Given the description of an element on the screen output the (x, y) to click on. 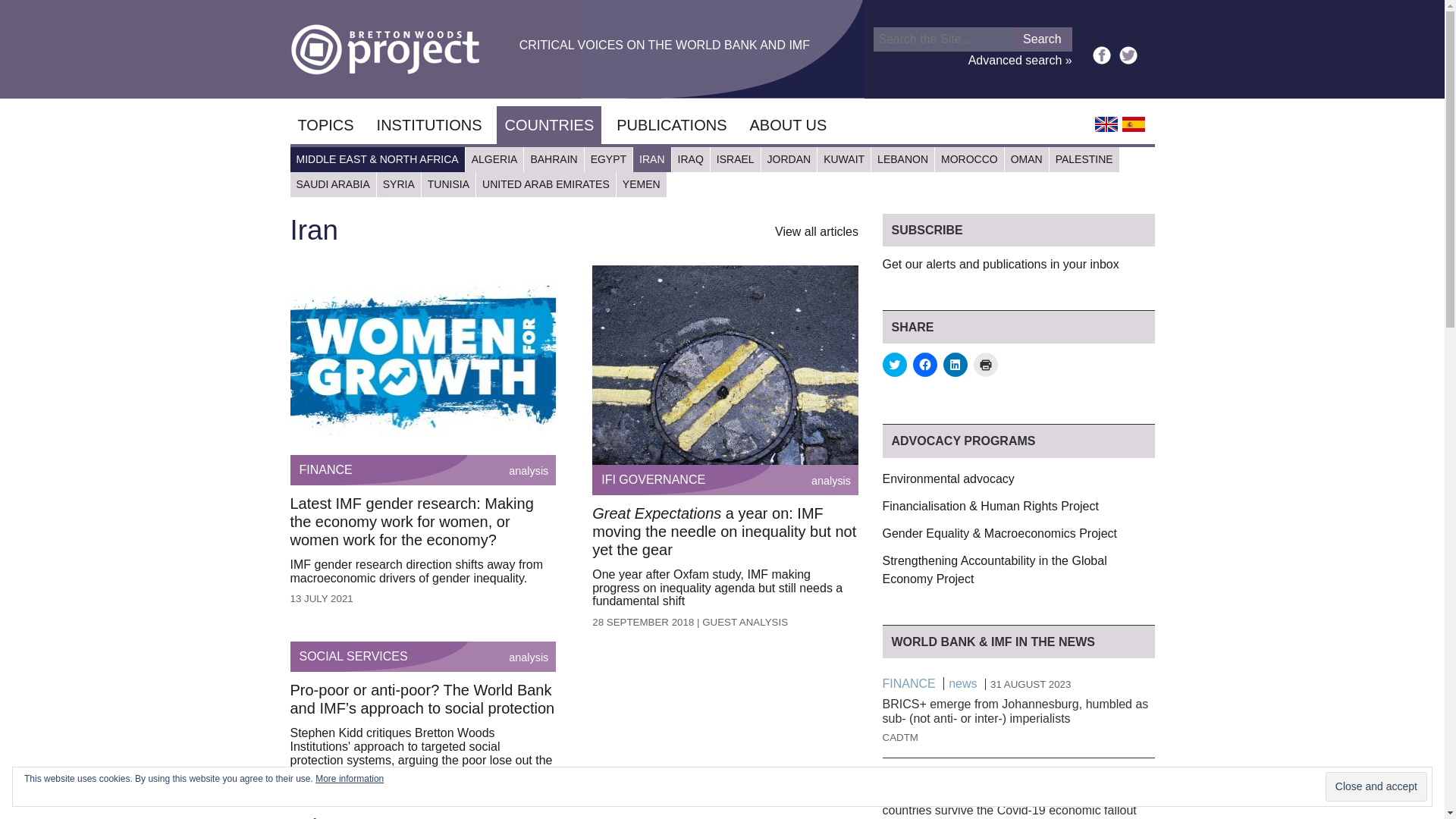
Facebook (1101, 54)
INSTITUTIONS (429, 125)
Click to share on LinkedIn (955, 364)
Click to print (985, 364)
Click to share on Facebook (924, 364)
Search (1041, 39)
COUNTRIES (548, 125)
TOPICS (325, 125)
Click to share on Twitter (894, 364)
PUBLICATIONS (670, 125)
Close and accept (1375, 786)
Search (1041, 39)
Twitter (1128, 54)
